Given the description of an element on the screen output the (x, y) to click on. 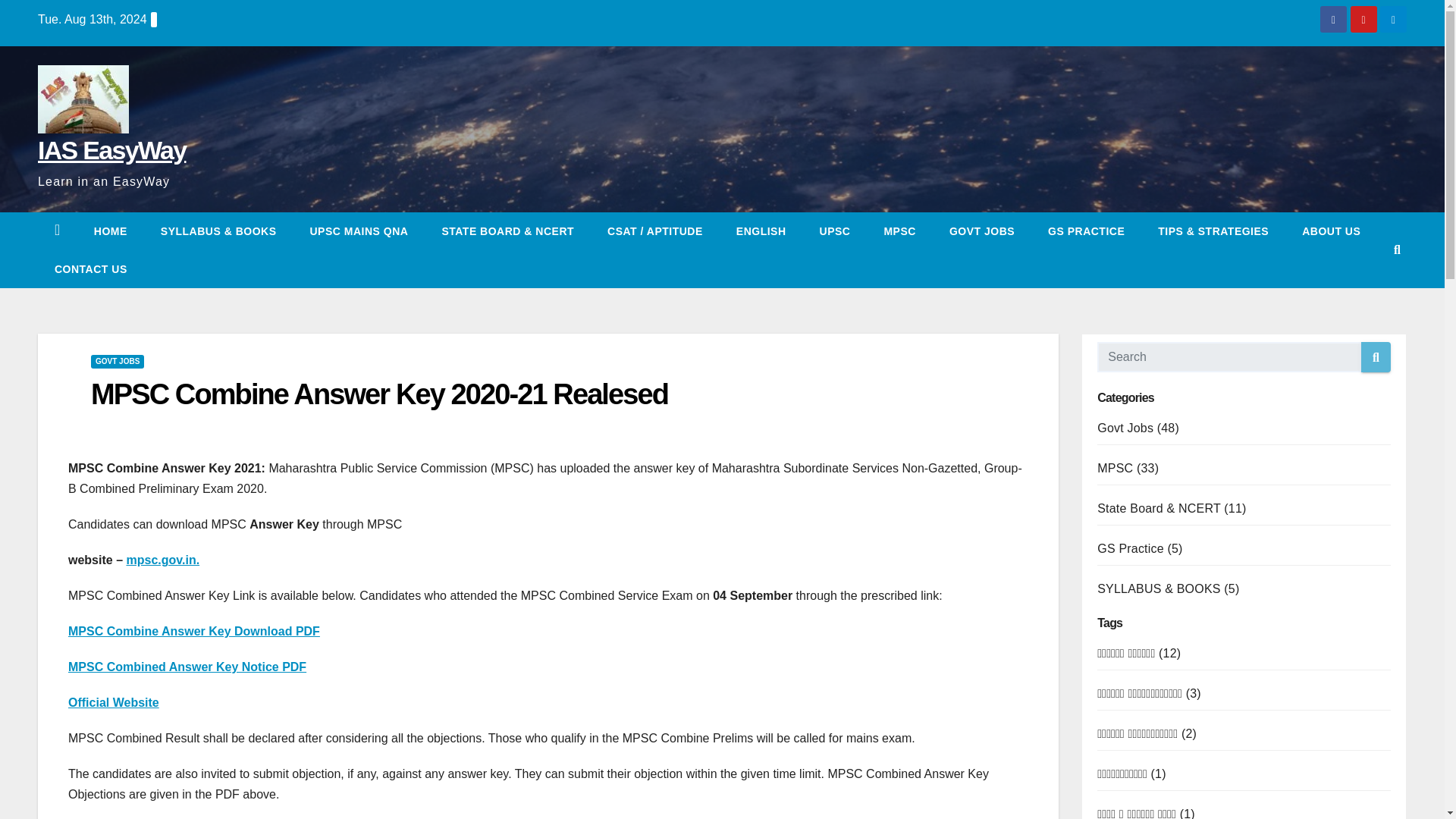
GOVT JOBS (981, 231)
HOME (110, 231)
ABOUT US (1331, 231)
English (761, 231)
HOME (110, 231)
UPSC (835, 231)
MPSC (898, 231)
ENGLISH (761, 231)
UPSC (835, 231)
UPSC Mains QnA (358, 231)
